Given the description of an element on the screen output the (x, y) to click on. 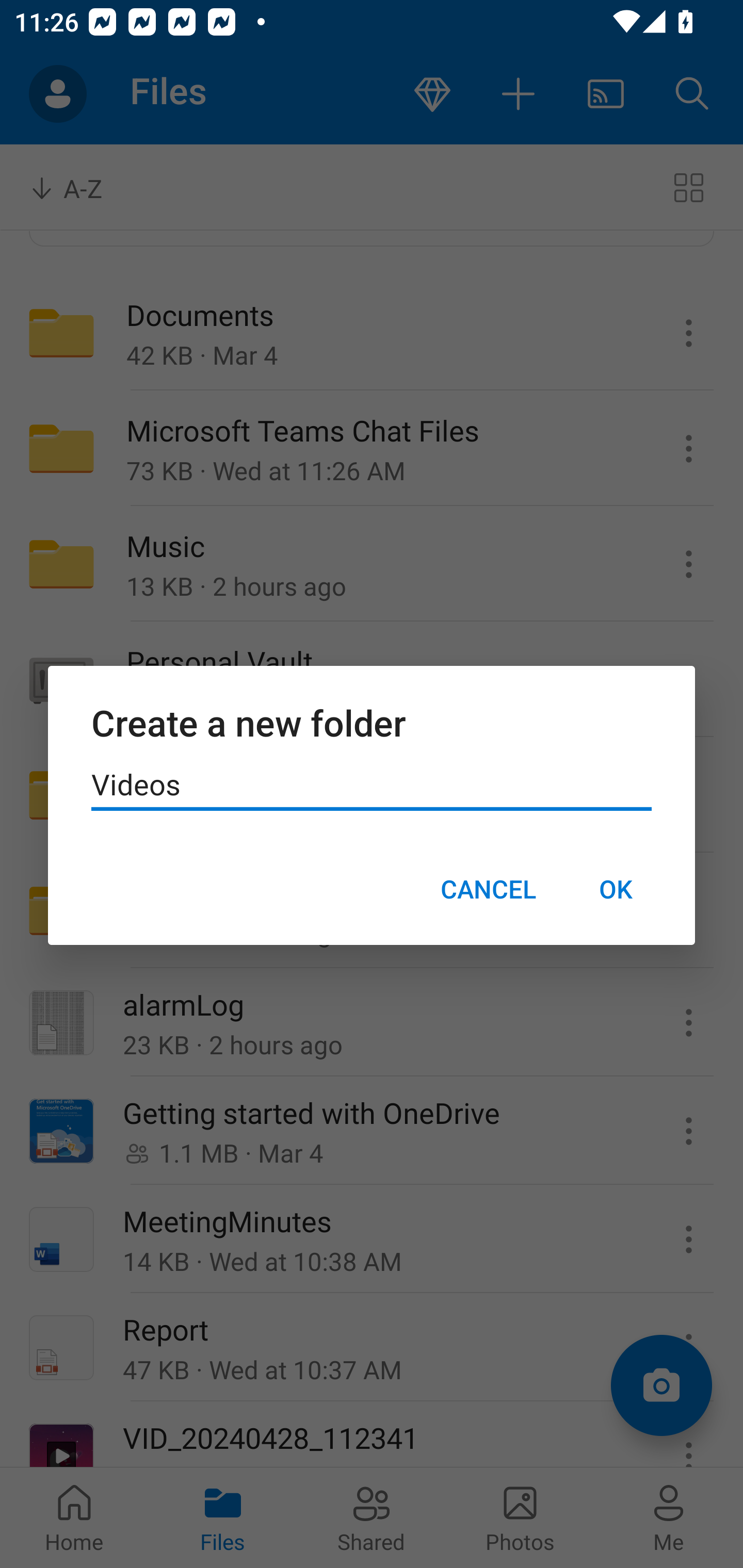
Videos (371, 784)
CANCEL (488, 888)
OK (615, 888)
